Given the description of an element on the screen output the (x, y) to click on. 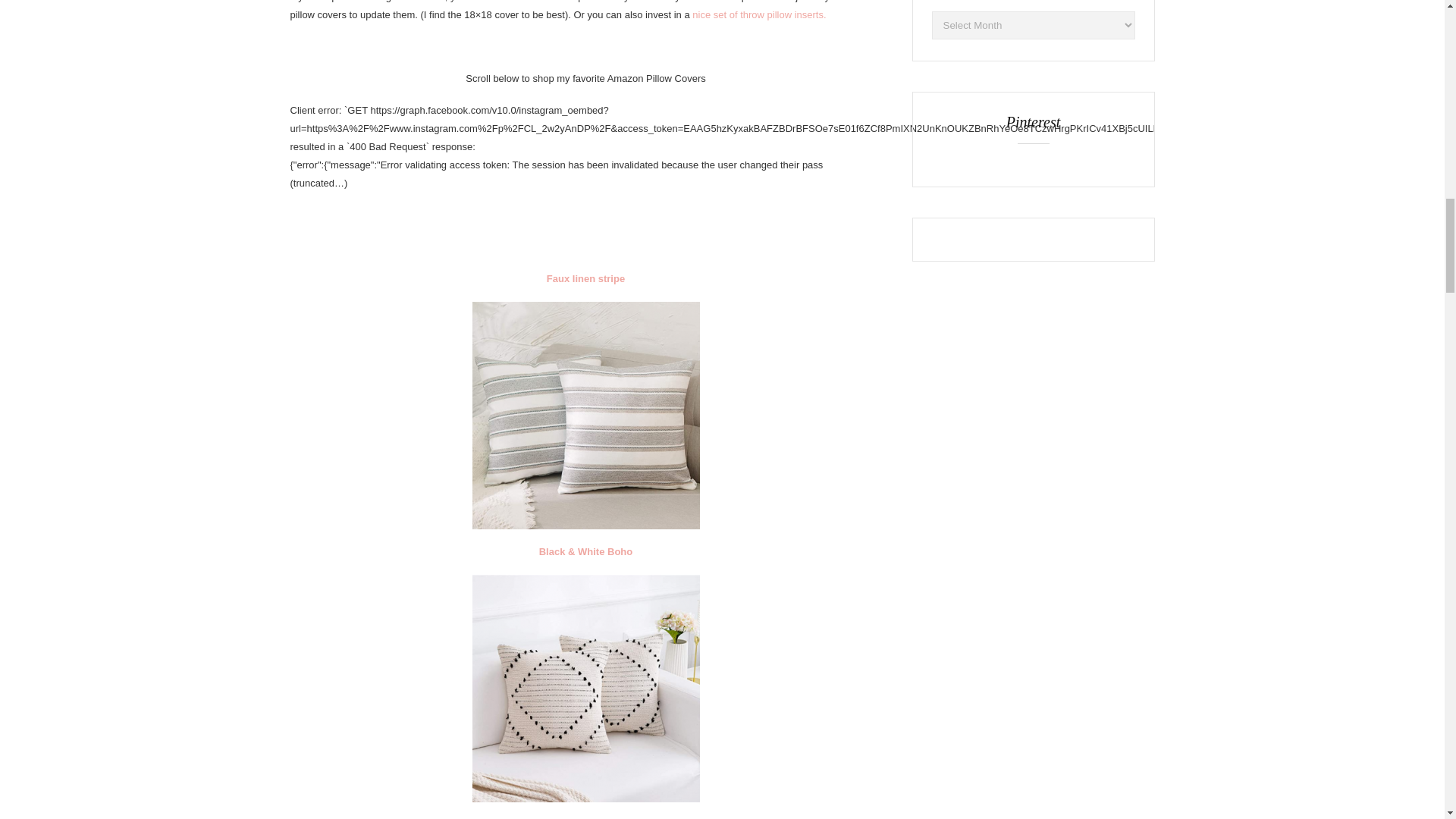
nice set of throw pillow inserts. (759, 14)
